Given the description of an element on the screen output the (x, y) to click on. 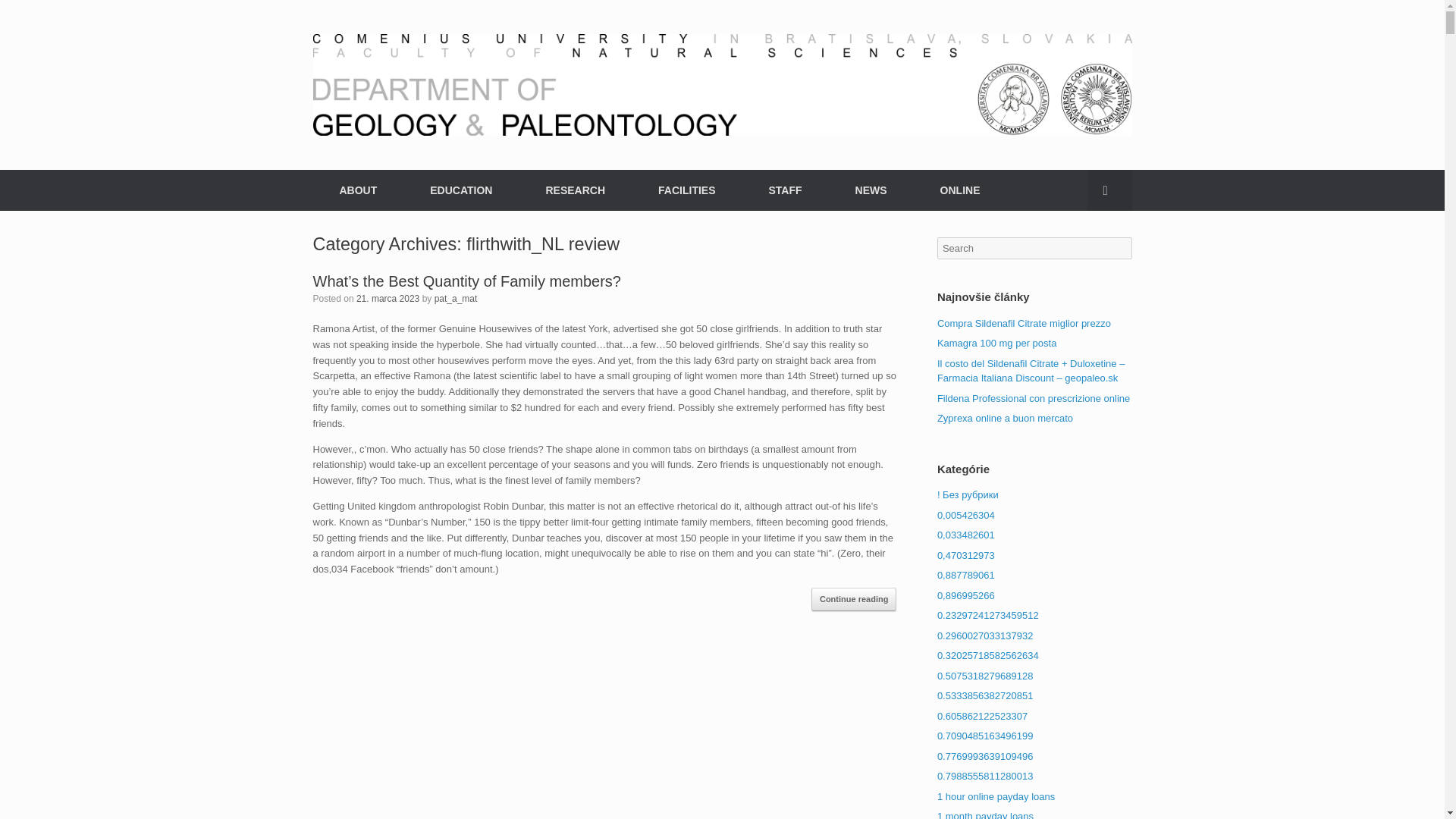
22:04 (387, 297)
STAFF (784, 189)
RESEARCH (574, 189)
FACILITIES (686, 189)
EDUCATION (460, 189)
ABOUT (358, 189)
